Given the description of an element on the screen output the (x, y) to click on. 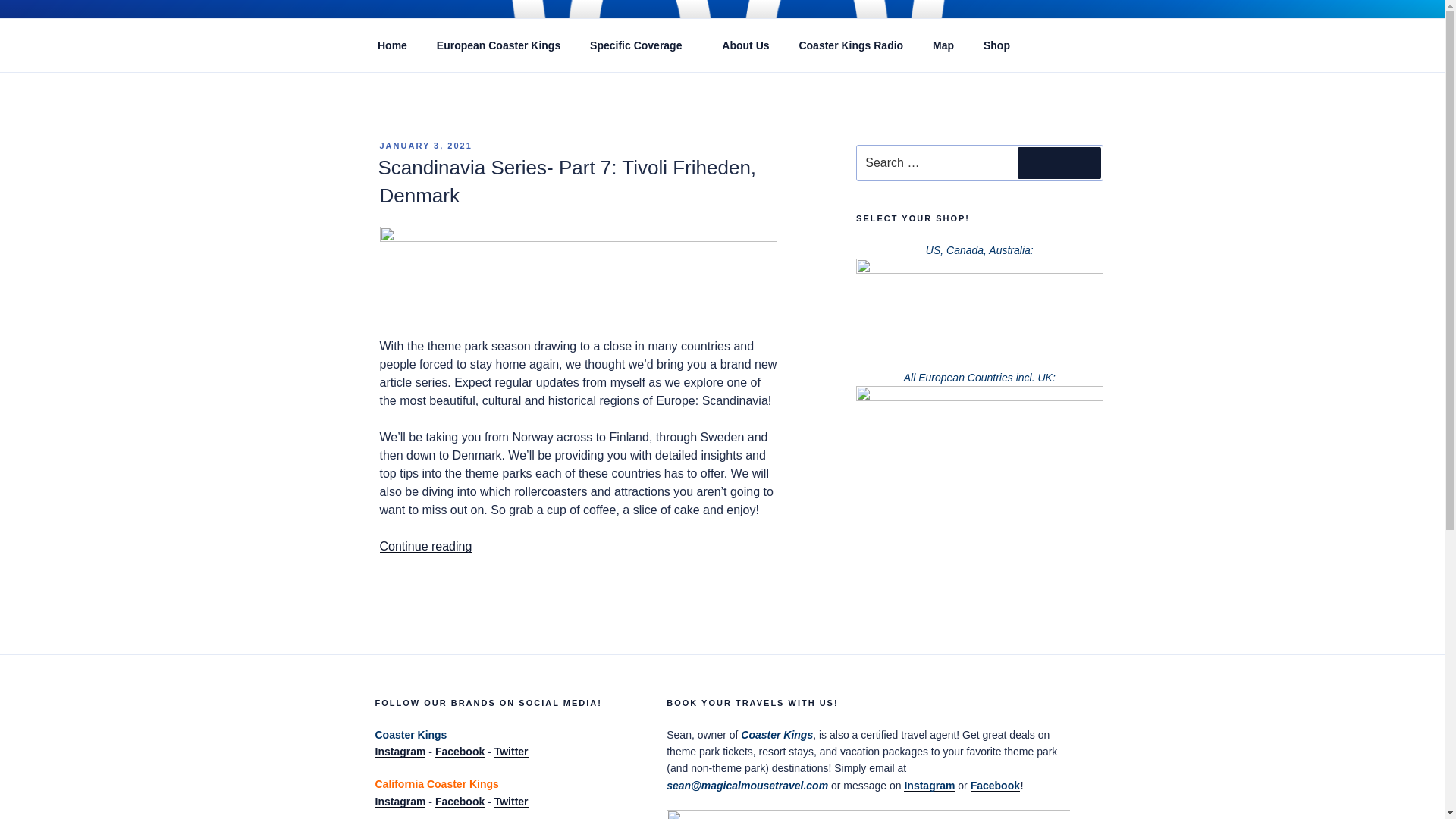
Twitter (511, 801)
Instagram (399, 801)
About Us (746, 45)
Facebook (459, 801)
Facebook (995, 785)
Specific Coverage (641, 45)
Facebook (459, 751)
Map (944, 45)
Home (392, 45)
Twitter (511, 751)
